Given the description of an element on the screen output the (x, y) to click on. 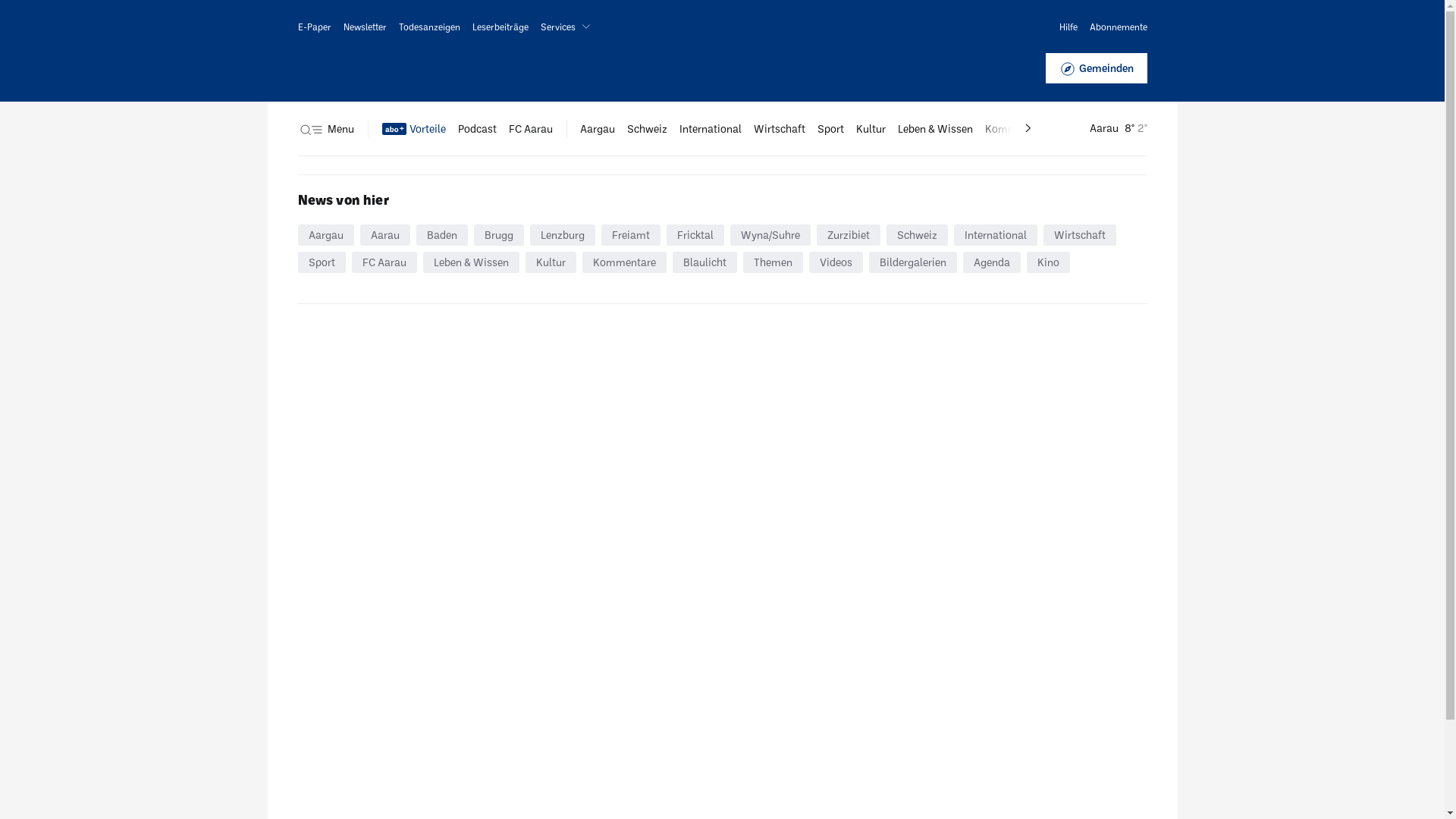
Sport Element type: text (830, 128)
Todesanzeigen Element type: text (429, 26)
Brugg Element type: text (498, 234)
E-Paper Element type: text (313, 26)
FC Aarau Element type: text (530, 128)
Zurzibiet Element type: text (847, 234)
Aargau Element type: text (596, 128)
Services Element type: text (567, 26)
Kino Element type: text (1048, 262)
Aarau Element type: text (384, 234)
Videos Element type: text (835, 262)
International Element type: text (995, 234)
Schweiz Element type: text (916, 234)
Schweiz Element type: text (646, 128)
Wirtschaft Element type: text (1079, 234)
Lenzburg Element type: text (561, 234)
Newsletter Element type: text (363, 26)
Aargau Element type: text (325, 234)
Vorteile Element type: text (413, 128)
Fricktal Element type: text (694, 234)
Hilfe Element type: text (1067, 26)
Blaulicht Element type: text (703, 262)
Leben & Wissen Element type: text (471, 262)
Kommentare Element type: text (1015, 128)
Kultur Element type: text (549, 262)
Sport Element type: text (321, 262)
Podcast Element type: text (477, 128)
Agenda Element type: text (991, 262)
Baden Element type: text (441, 234)
Abonnemente Element type: text (1117, 26)
Freiamt Element type: text (629, 234)
FC Aarau Element type: text (384, 262)
Leben & Wissen Element type: text (934, 128)
International Element type: text (710, 128)
Themen Element type: text (773, 262)
Wyna/Suhre Element type: text (769, 234)
Bildergalerien Element type: text (913, 262)
Menu Element type: text (325, 128)
Kommentare Element type: text (624, 262)
Kultur Element type: text (869, 128)
Gemeinden Element type: text (1095, 68)
Wirtschaft Element type: text (779, 128)
